Given the description of an element on the screen output the (x, y) to click on. 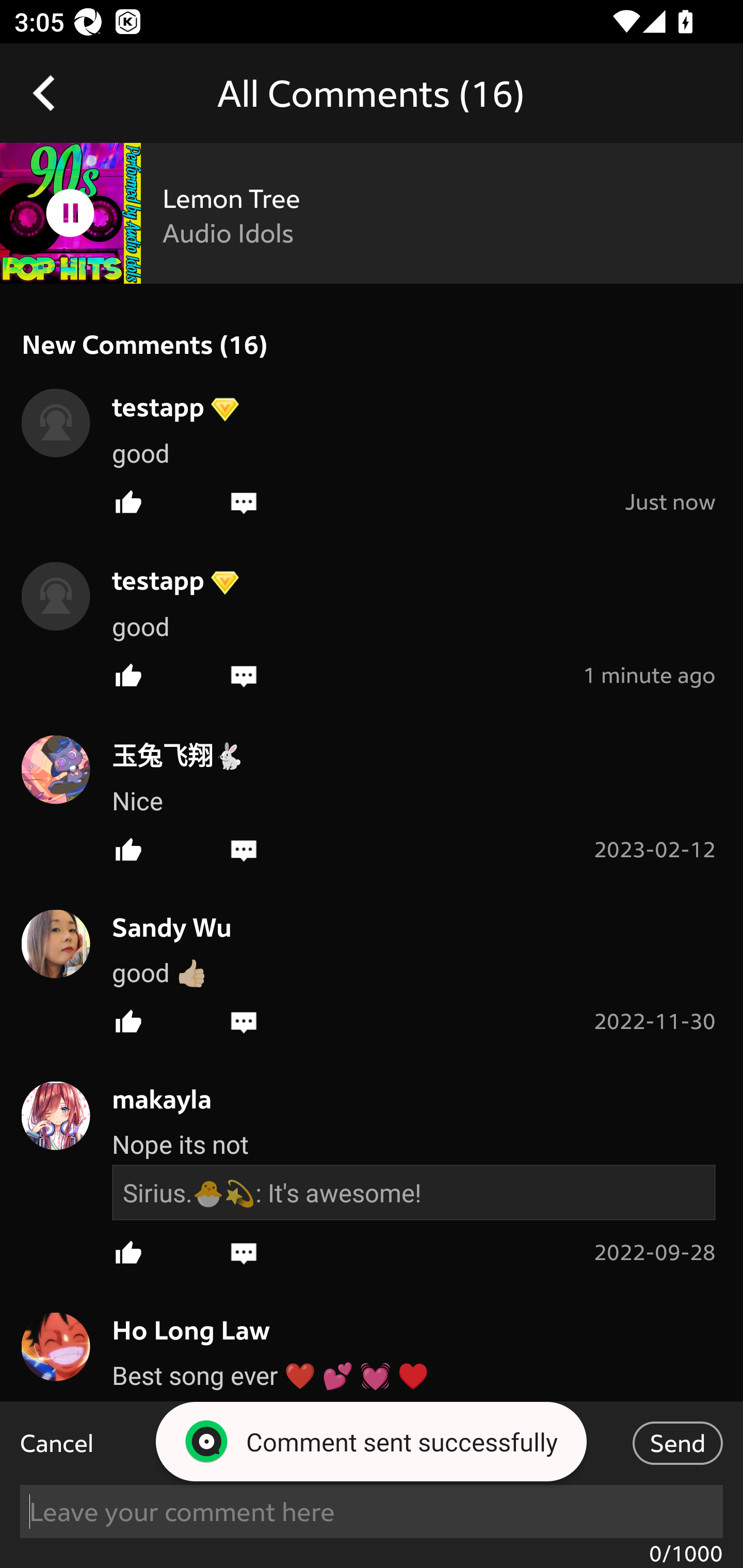
testapp good Just now (371, 448)
testapp (147, 405)
testapp good 1 minute ago (371, 621)
testapp (147, 579)
玉兔飞翔🐇 Nice 2023-02-12 (371, 795)
玉兔飞翔🐇 (167, 754)
Sandy Wu good 👍🏻  2022-11-30 (371, 967)
Sandy Wu (160, 926)
makayla (150, 1098)
Ho Long Law Best song ever ❤ 💕 💓 ♥  1 2022-08-02 (371, 1369)
Ho Long Law (180, 1329)
Cancel Comment Send Leave your comment here 0/1000 (371, 1484)
Send (677, 1443)
Cancel (56, 1442)
Say something... (372, 1510)
